Given the description of an element on the screen output the (x, y) to click on. 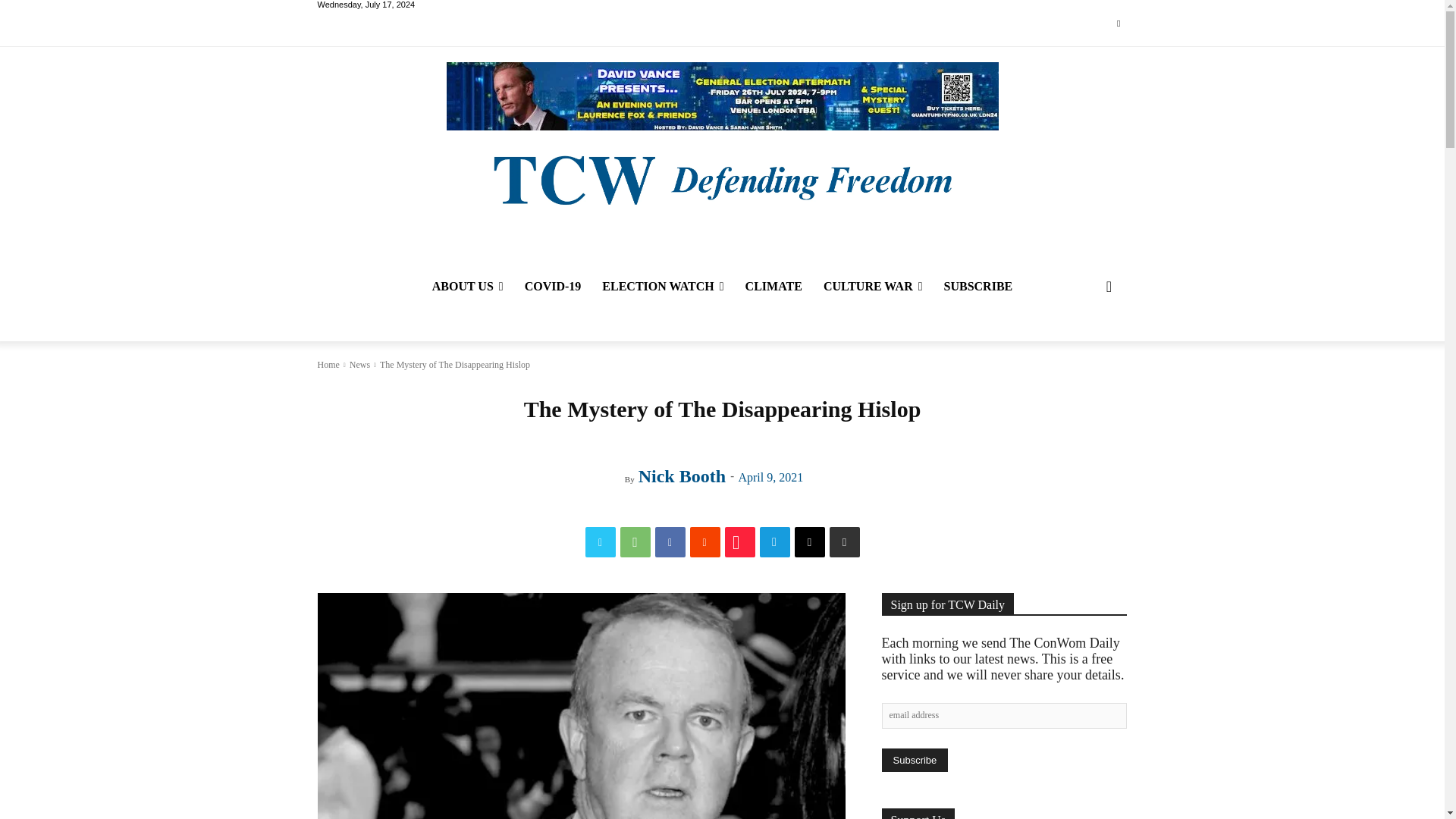
Facebook (670, 542)
Subscribe (913, 760)
Gettr (740, 542)
Telegram (775, 542)
WhatsApp (635, 542)
Twitter (600, 542)
ABOUT US (467, 286)
CLIMATE (773, 286)
The Conservative Woman (721, 178)
ReddIt (705, 542)
COVID-19 (552, 286)
Twitter (1117, 23)
View all posts in News (359, 364)
ELECTION WATCH (662, 286)
